Given the description of an element on the screen output the (x, y) to click on. 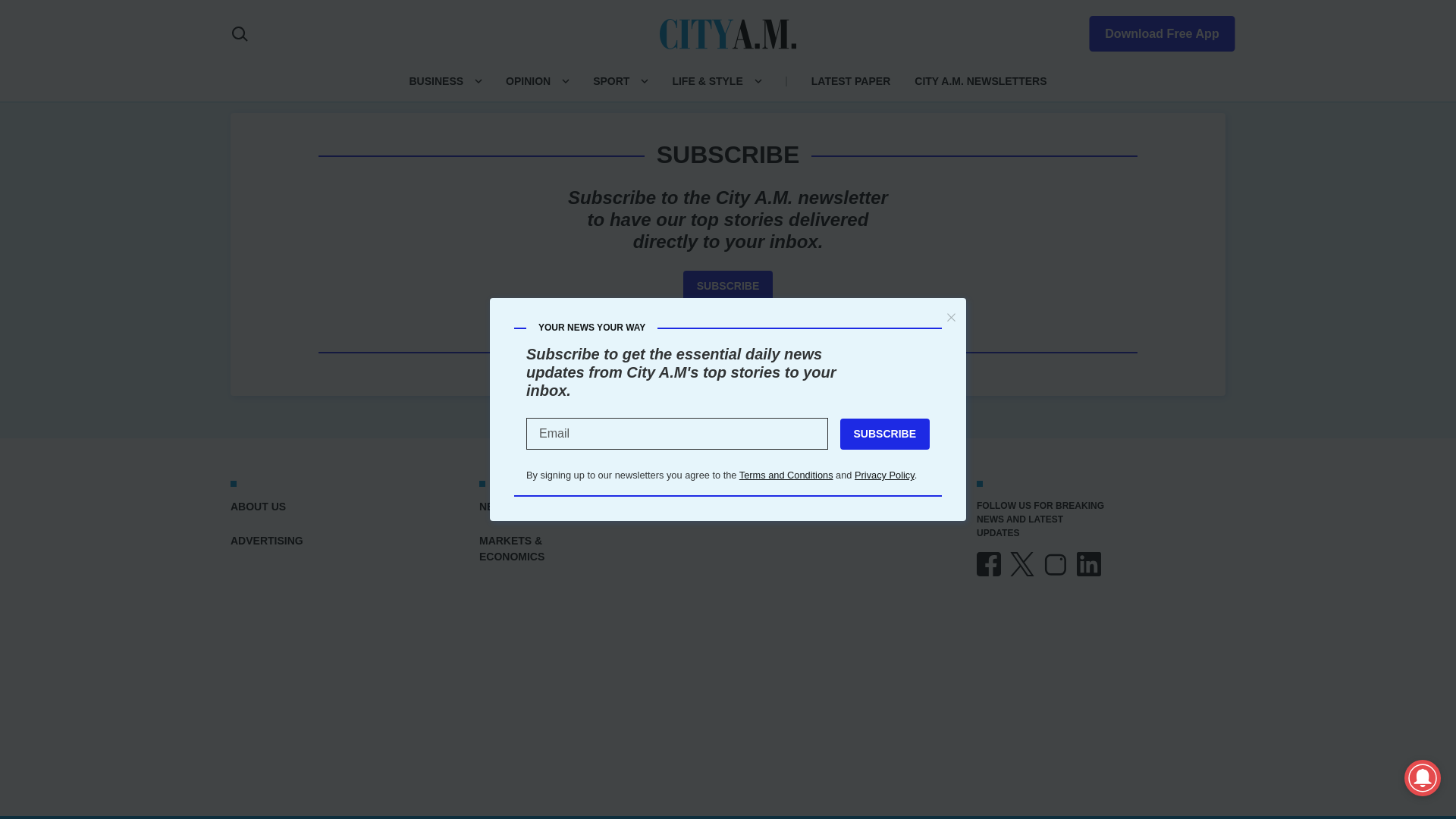
X (1021, 564)
INSTAGRAM (1055, 564)
FACEBOOK (988, 564)
LINKEDIN (1088, 564)
